Given the description of an element on the screen output the (x, y) to click on. 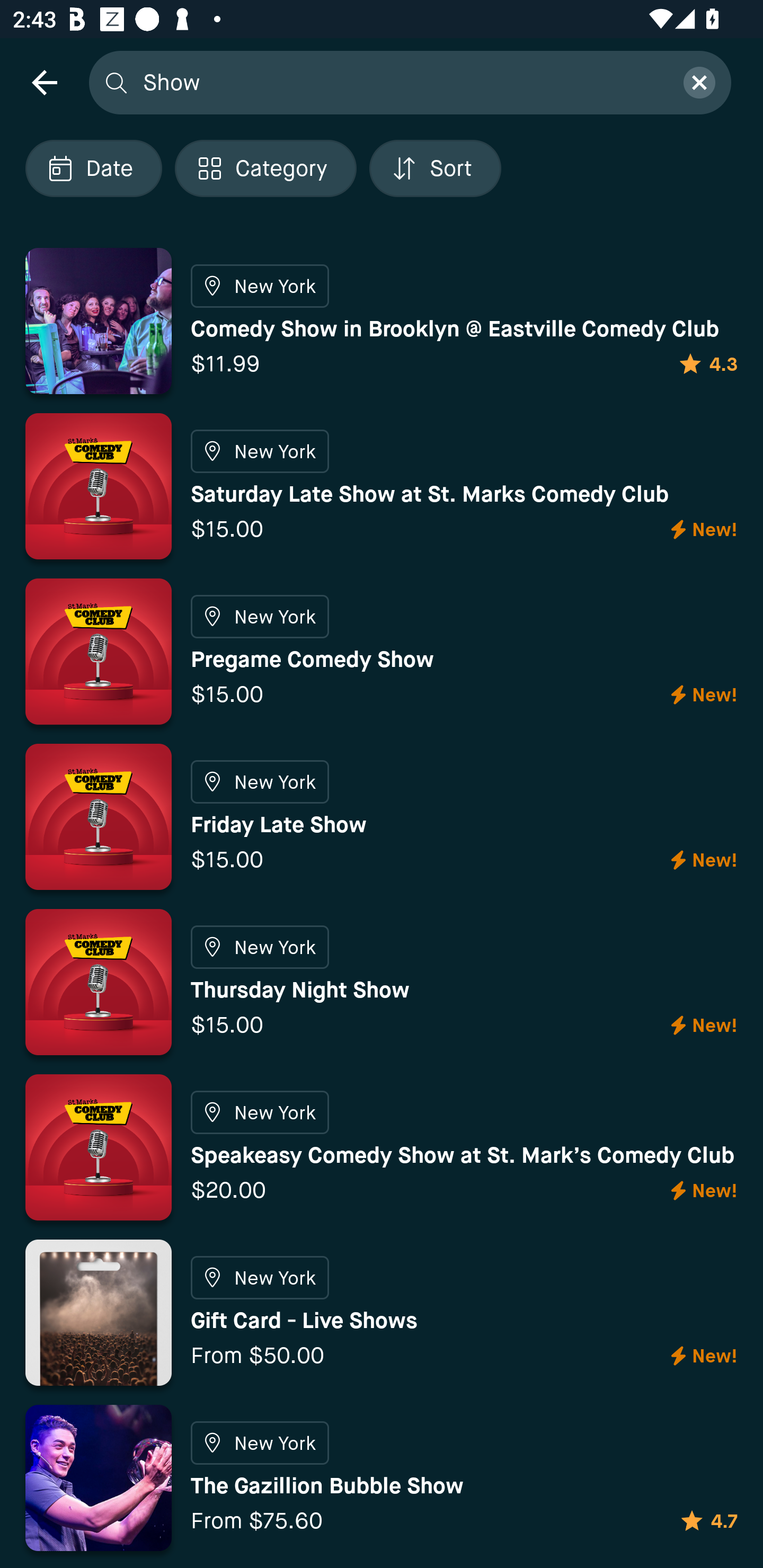
navigation icon (44, 81)
Show (402, 81)
Localized description Date (93, 168)
Localized description Category (265, 168)
Localized description Sort (435, 168)
